Given the description of an element on the screen output the (x, y) to click on. 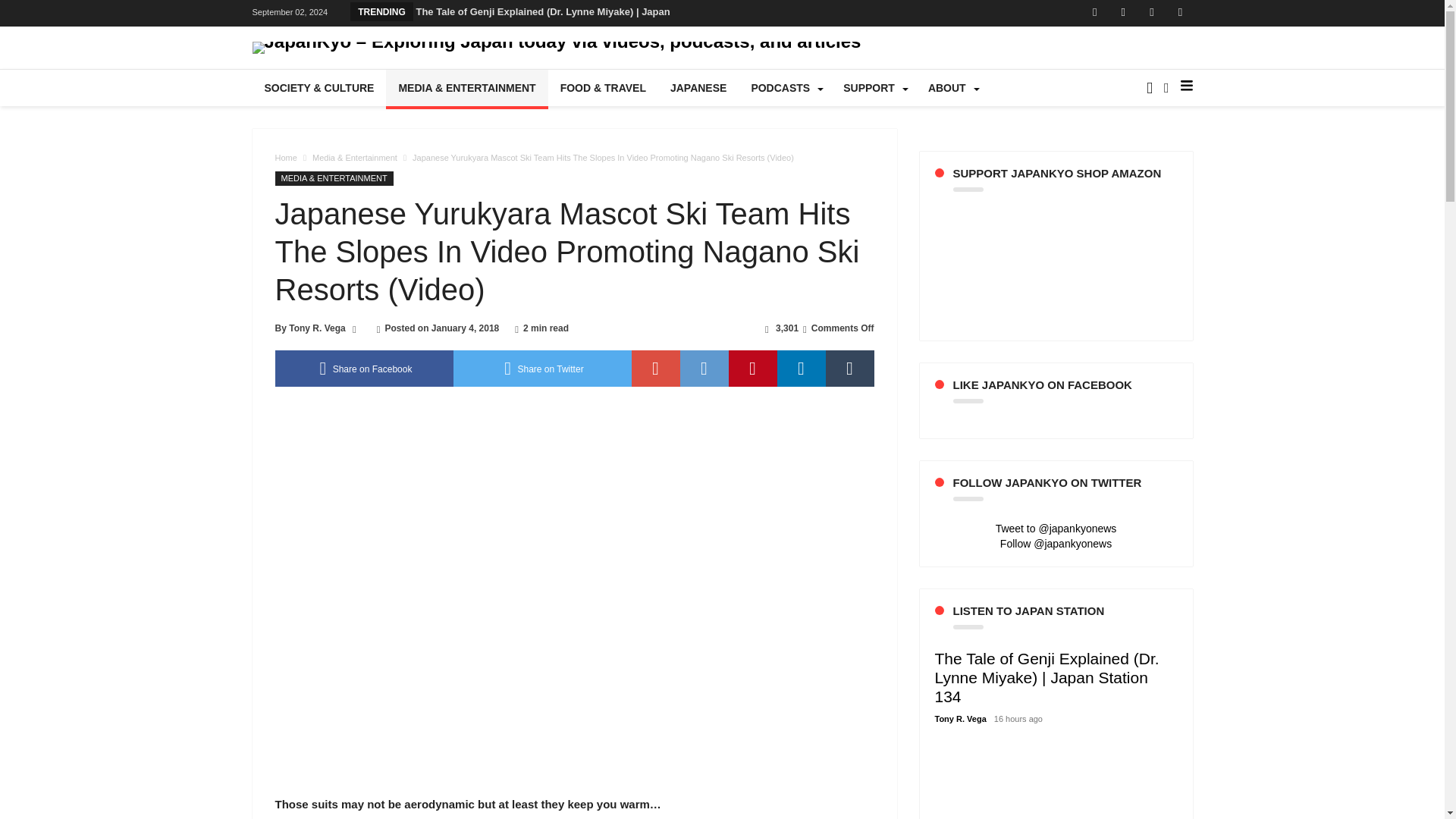
PODCASTS (784, 87)
Facebook (1094, 13)
Apple (1179, 13)
Youtube (1151, 13)
Twitter (1122, 13)
JAPANESE (698, 87)
